Given the description of an element on the screen output the (x, y) to click on. 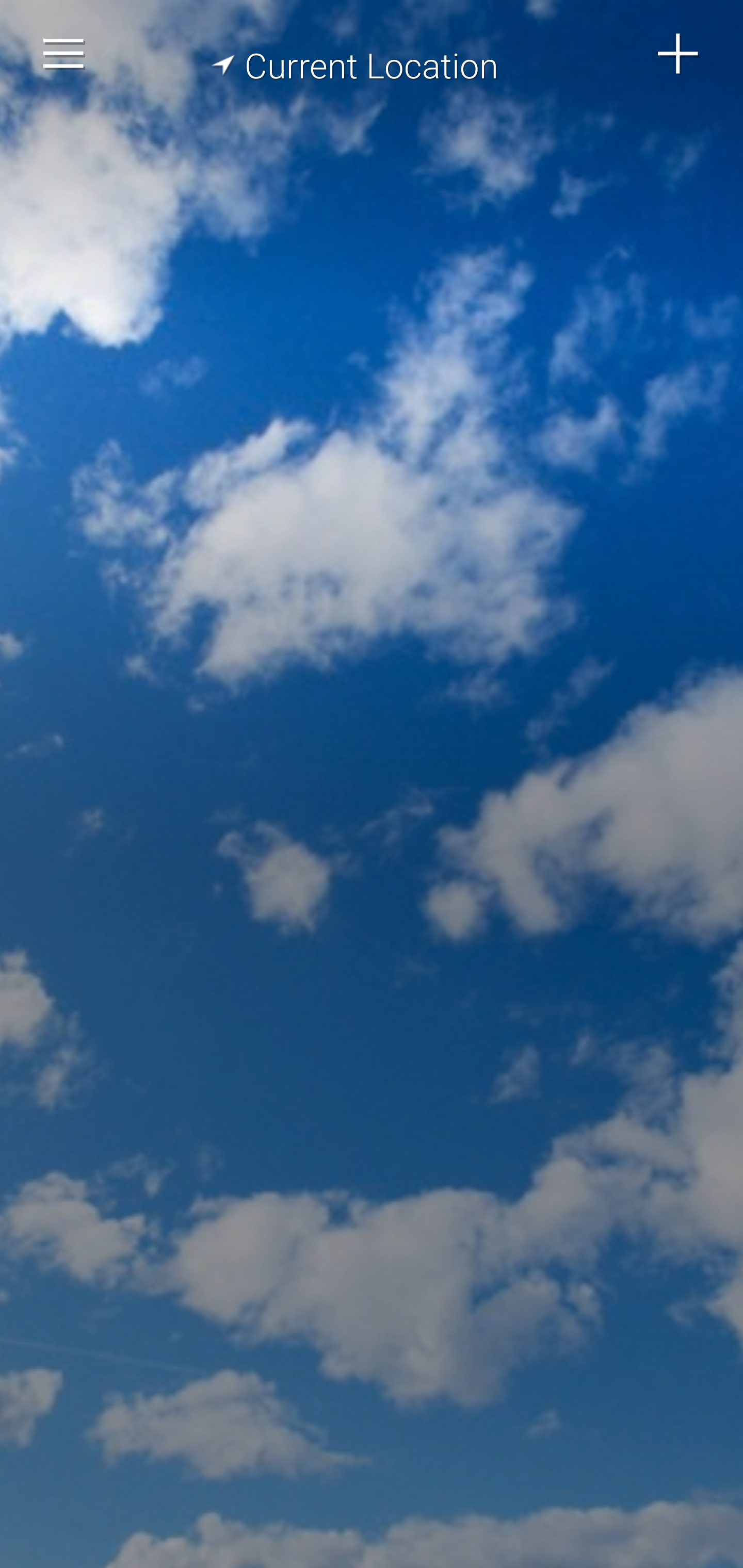
Sidebar (64, 54)
Add City (678, 53)
